Given the description of an element on the screen output the (x, y) to click on. 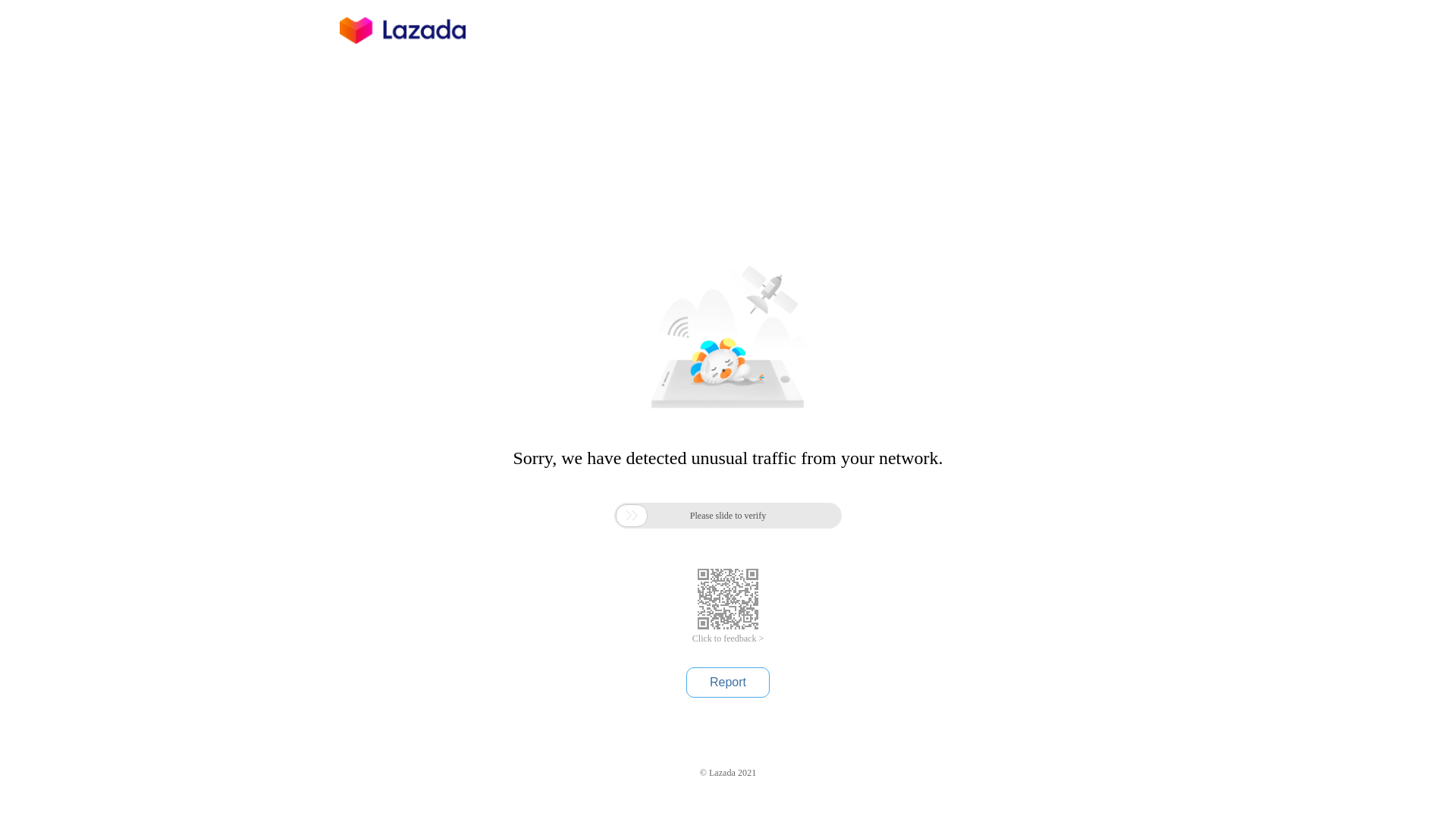
Click to feedback > Element type: text (727, 638)
Report Element type: text (727, 682)
